Given the description of an element on the screen output the (x, y) to click on. 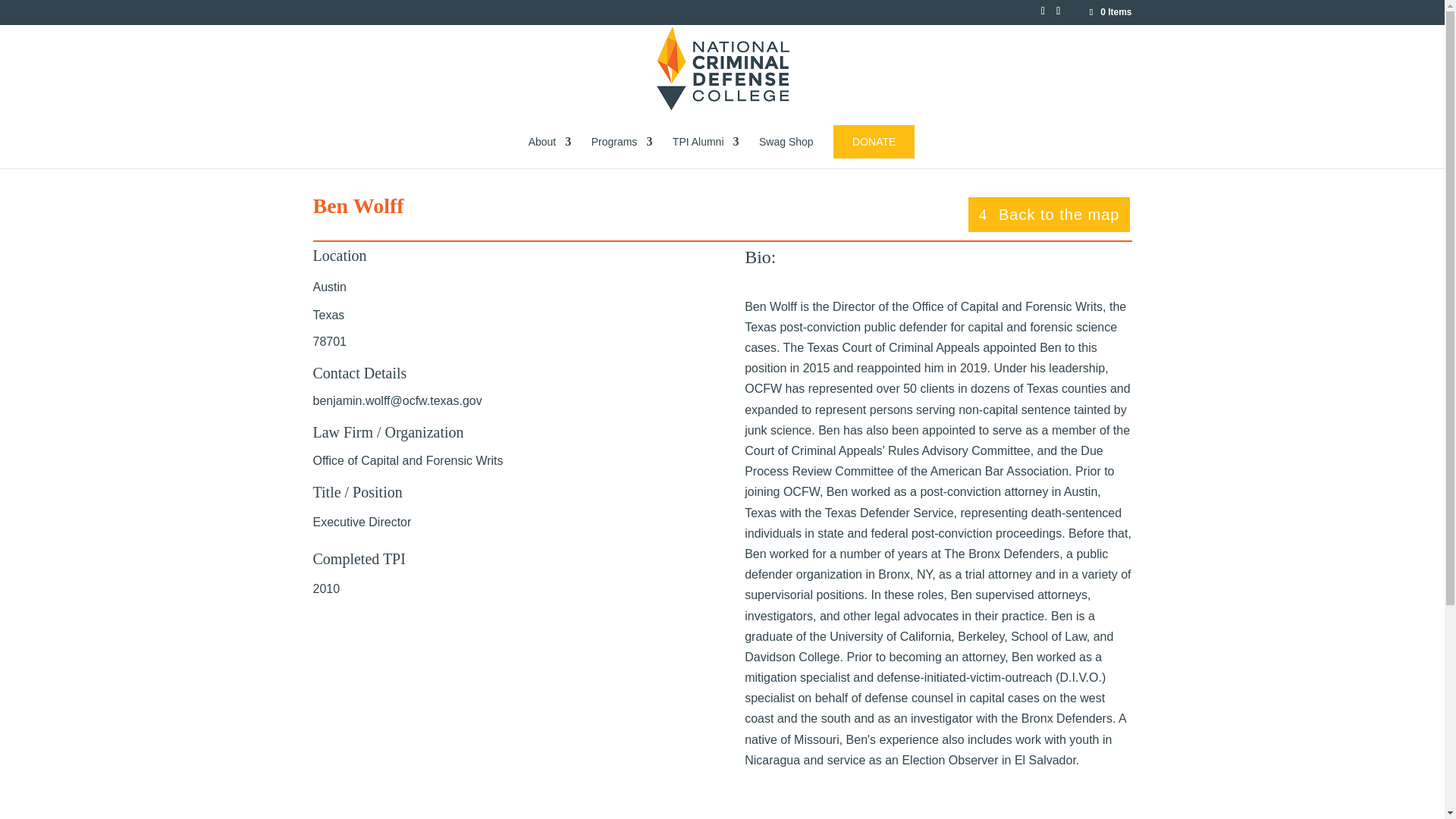
Swag Shop (785, 152)
Programs (621, 152)
About (550, 152)
Back to the map (1049, 214)
DONATE (873, 141)
0 Items (1108, 11)
TPI Alumni (705, 152)
